Given the description of an element on the screen output the (x, y) to click on. 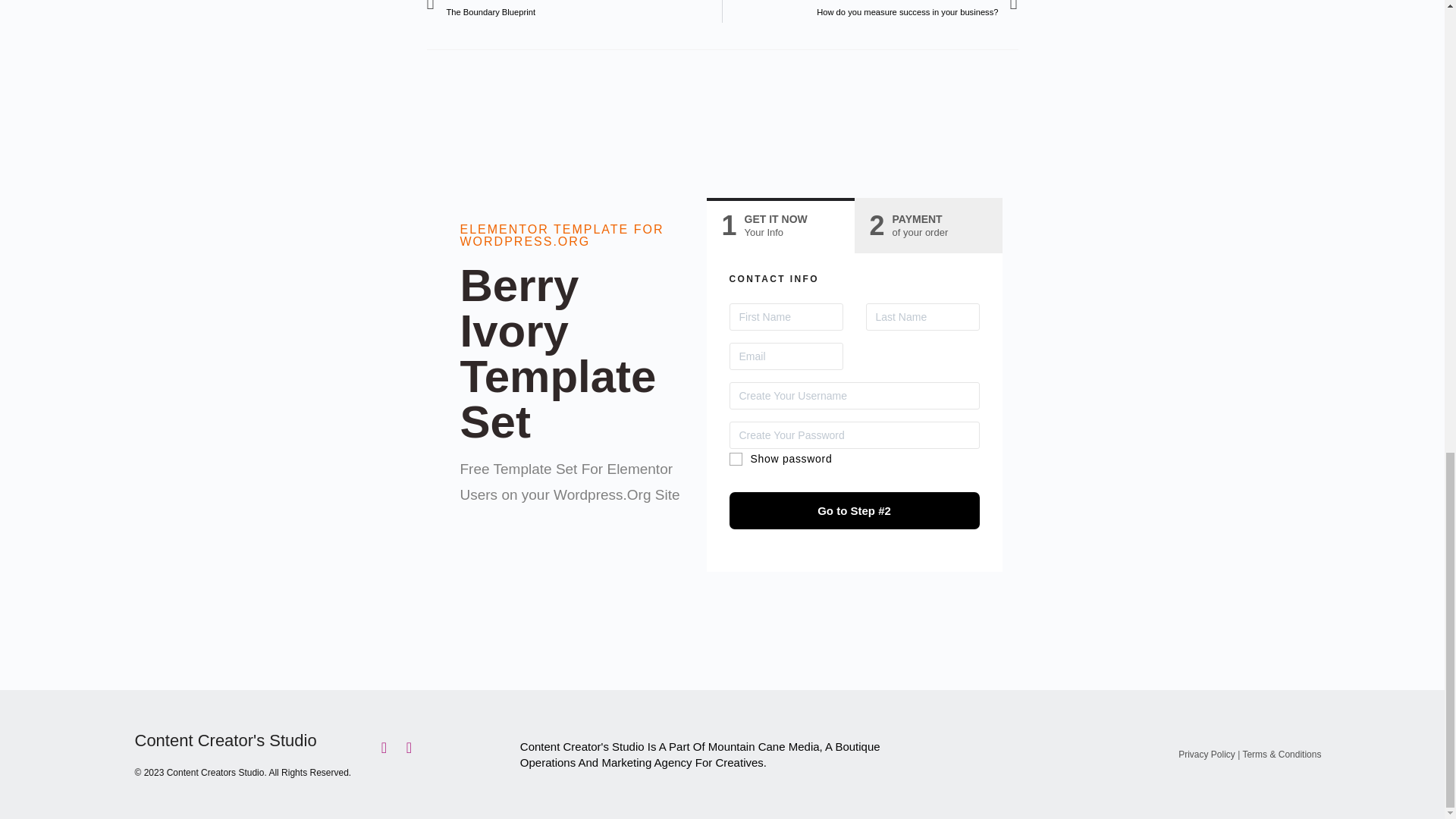
Privacy Policy (927, 226)
on (869, 11)
Content Creator's Studio (1205, 754)
